Given the description of an element on the screen output the (x, y) to click on. 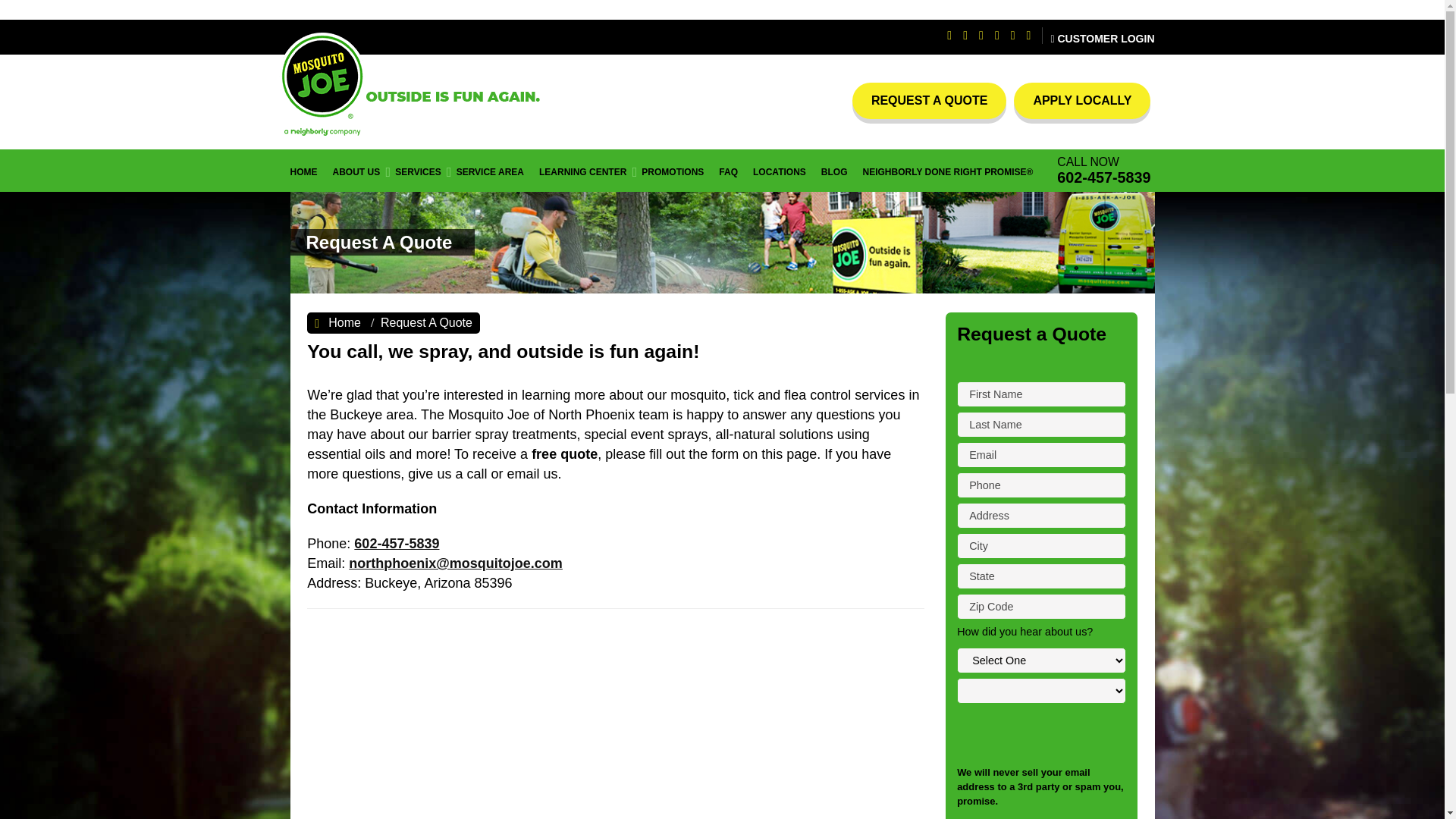
APPLY LOCALLY (1081, 100)
ABOUT US (355, 170)
SERVICE AREA (490, 170)
SERVICES (417, 170)
REQUEST A QUOTE (929, 100)
CUSTOMER LOGIN (1098, 37)
Mosquito Joe logo (412, 85)
LEARNING CENTER (582, 170)
